Given the description of an element on the screen output the (x, y) to click on. 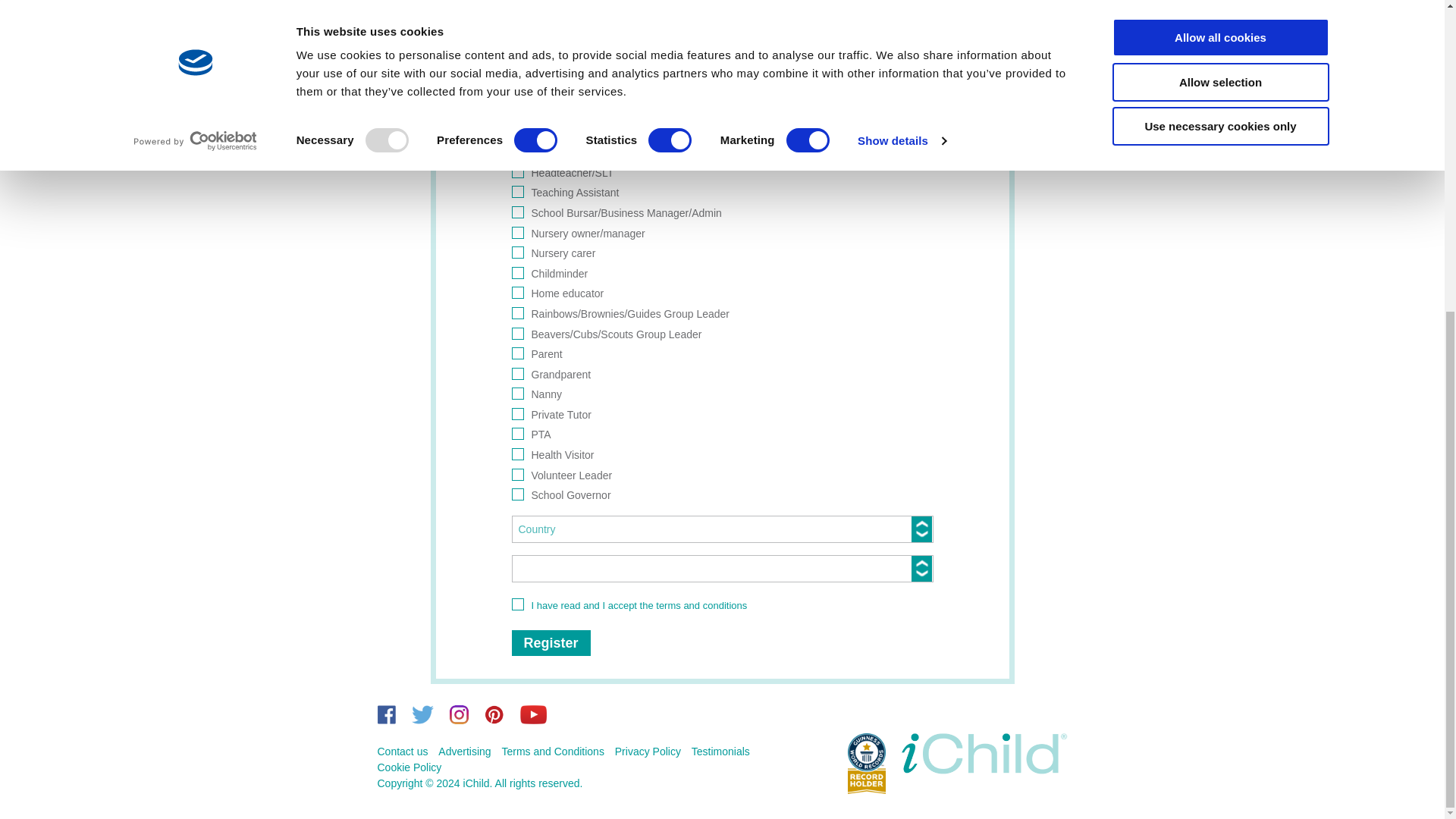
teacher (516, 151)
nursery carer (516, 252)
head teacher slt (516, 172)
nanny (516, 393)
home educator (516, 292)
grandparent (516, 373)
teaching assistant (516, 191)
childminder (516, 272)
parent (516, 353)
